Given the description of an element on the screen output the (x, y) to click on. 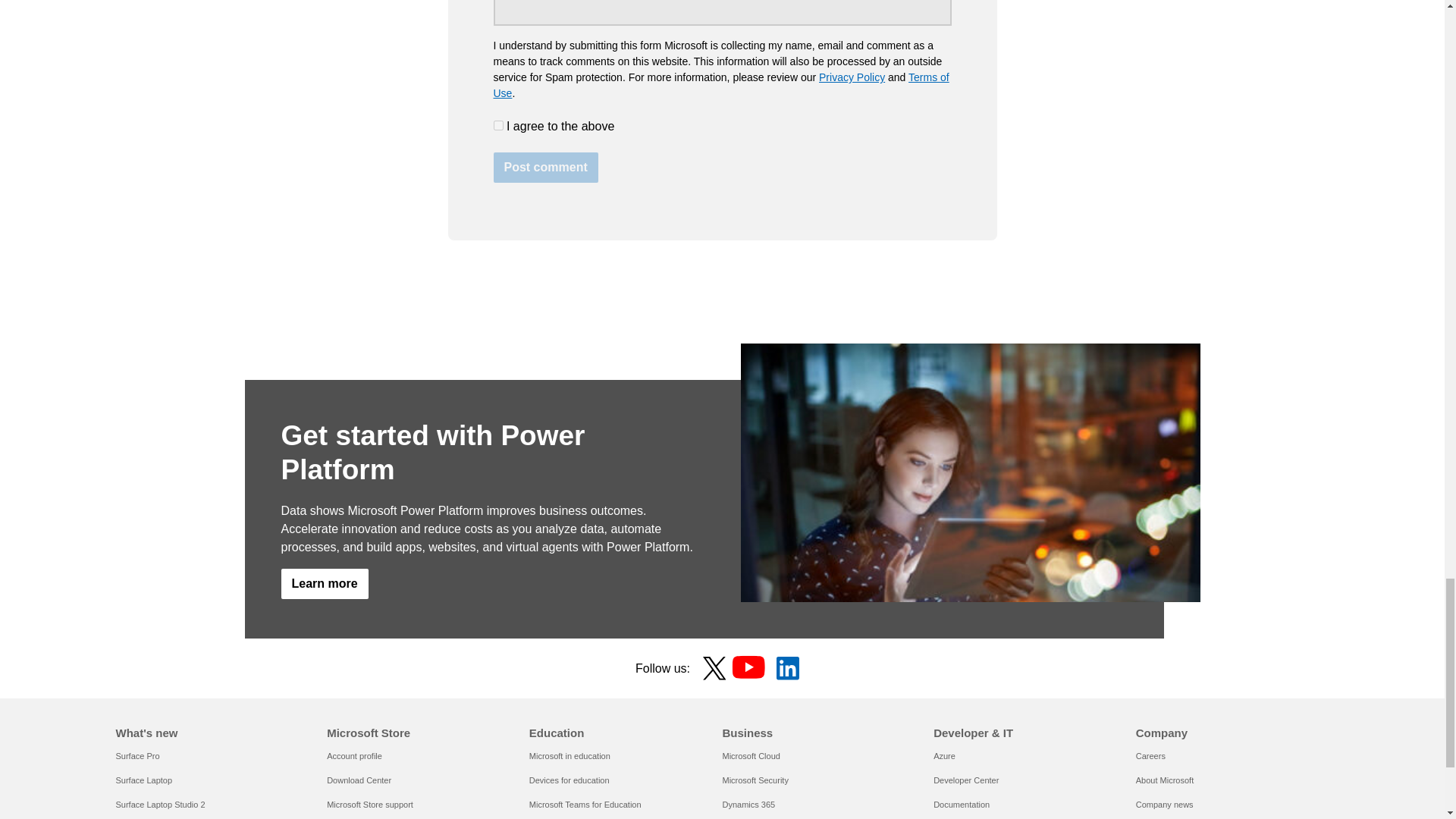
Post comment (544, 167)
yes (497, 125)
